Given the description of an element on the screen output the (x, y) to click on. 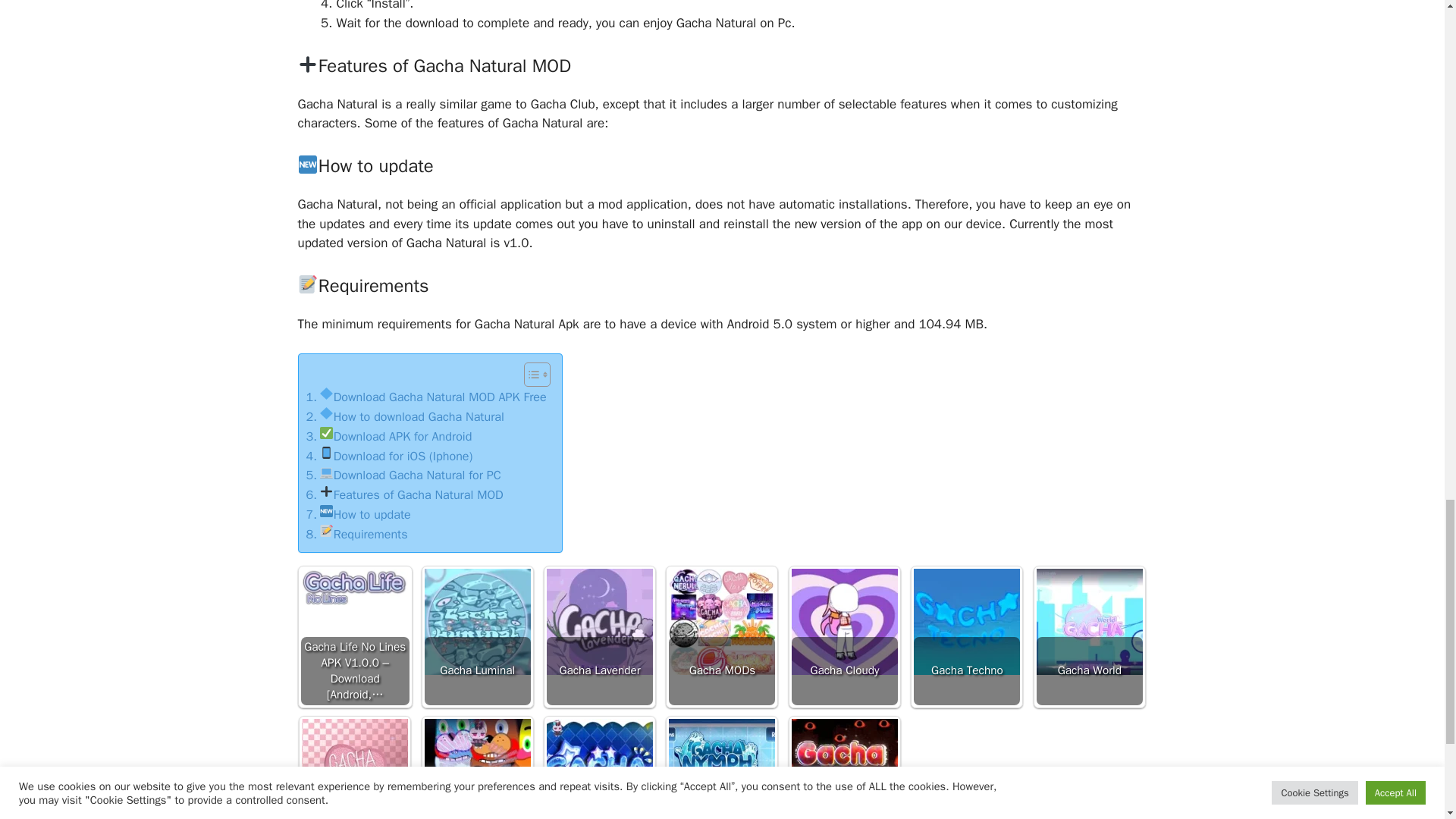
Gacha MODs (721, 621)
Gacha Cloudy (845, 621)
Download Gacha Natural for PC (402, 475)
Download Gacha Natural MOD APK Free (426, 397)
Gacha Luminal (478, 621)
Features of Gacha Natural MOD (404, 495)
Download APK for Android (388, 436)
How to update (357, 514)
How to download Gacha Natural (404, 416)
Requirements (356, 534)
Gacha Lavender (599, 621)
